Given the description of an element on the screen output the (x, y) to click on. 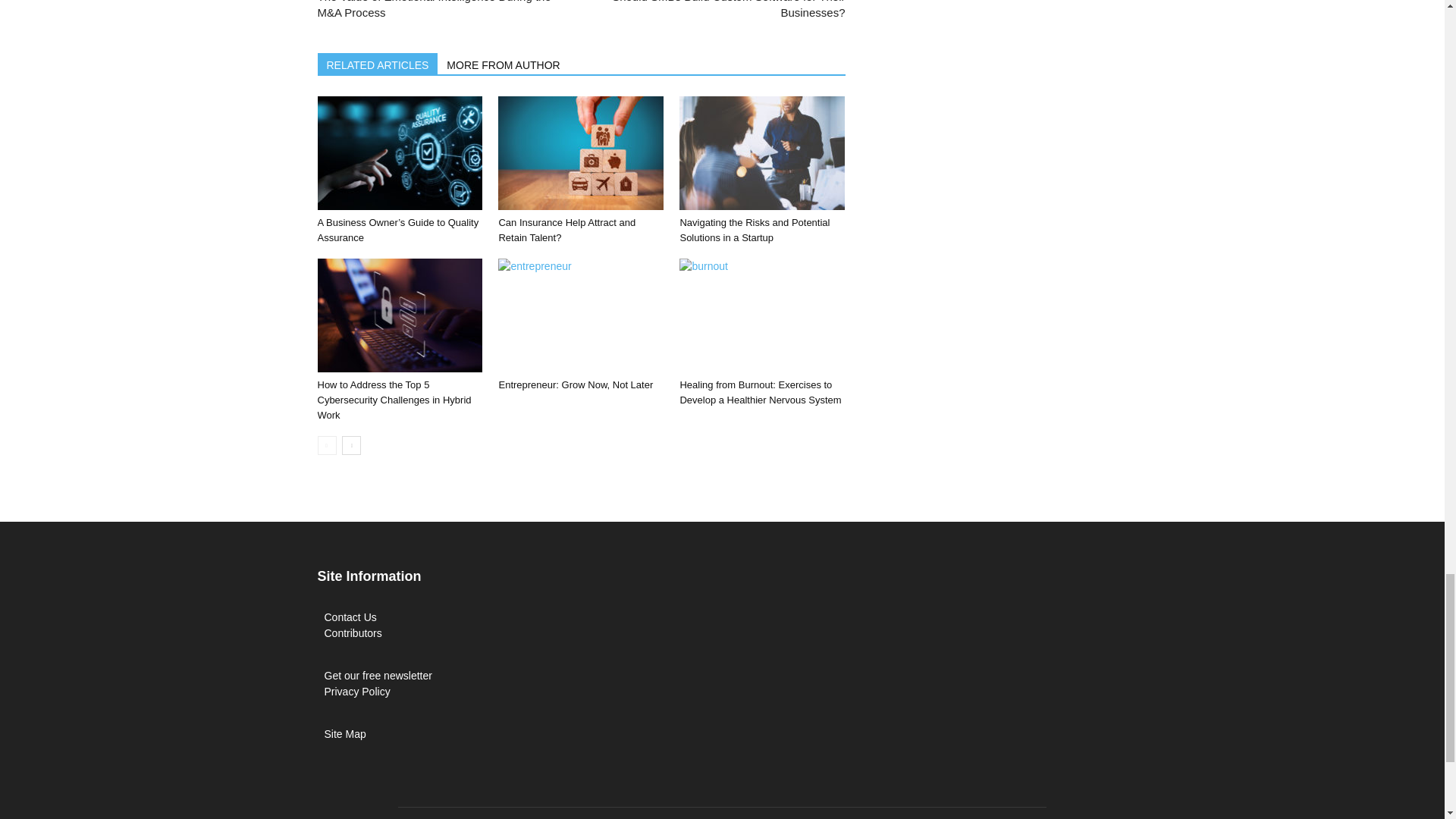
Navigating the Risks and Potential Solutions in a Startup (754, 230)
Navigating the Risks and Potential Solutions in a Startup (761, 152)
Can Insurance Help Attract and Retain Talent? (580, 152)
Can Insurance Help Attract and Retain Talent? (565, 230)
Entrepreneur: Grow Now, Not Later (580, 315)
